Given the description of an element on the screen output the (x, y) to click on. 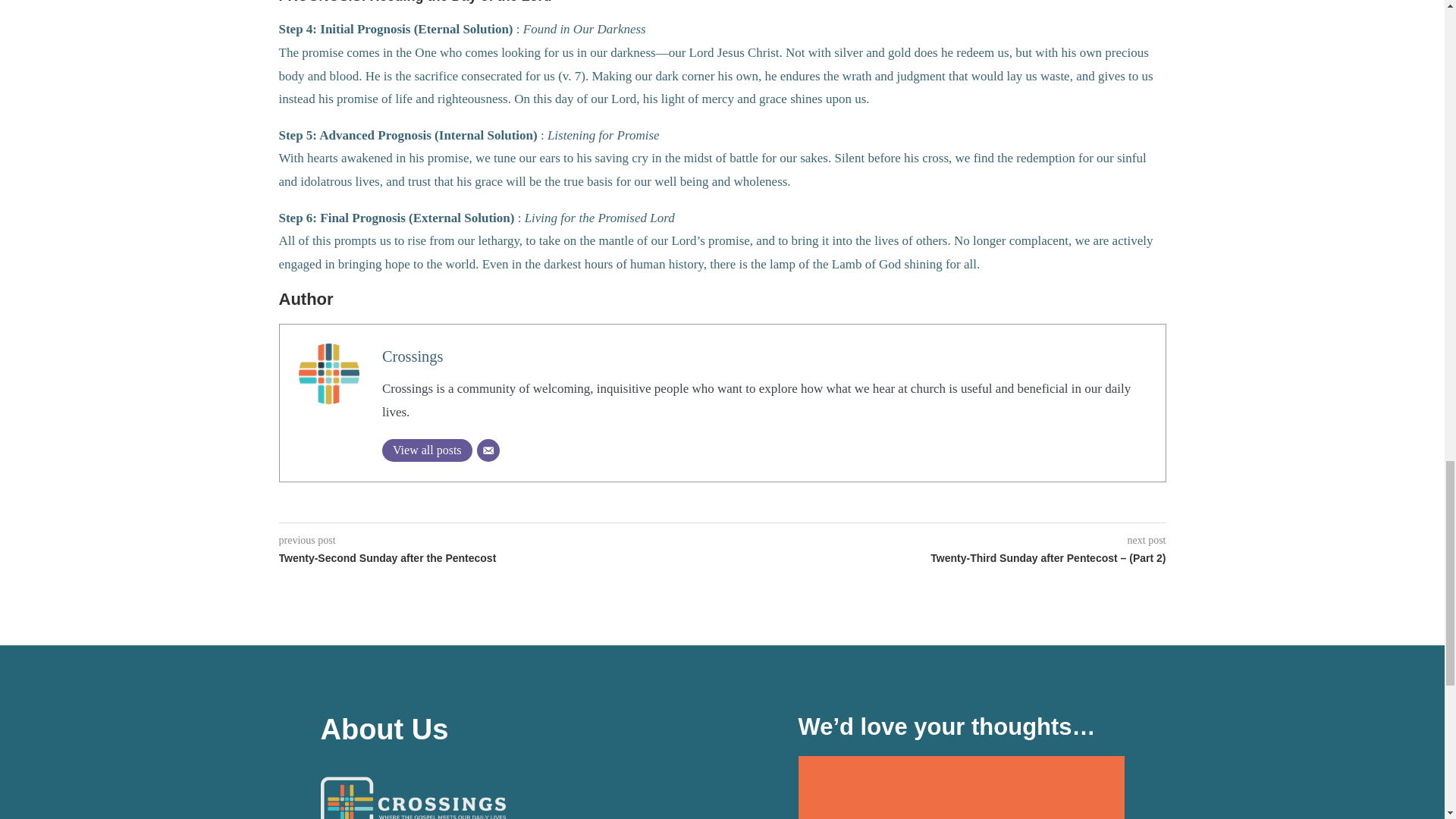
View all posts (426, 449)
Crossings (411, 356)
